Given the description of an element on the screen output the (x, y) to click on. 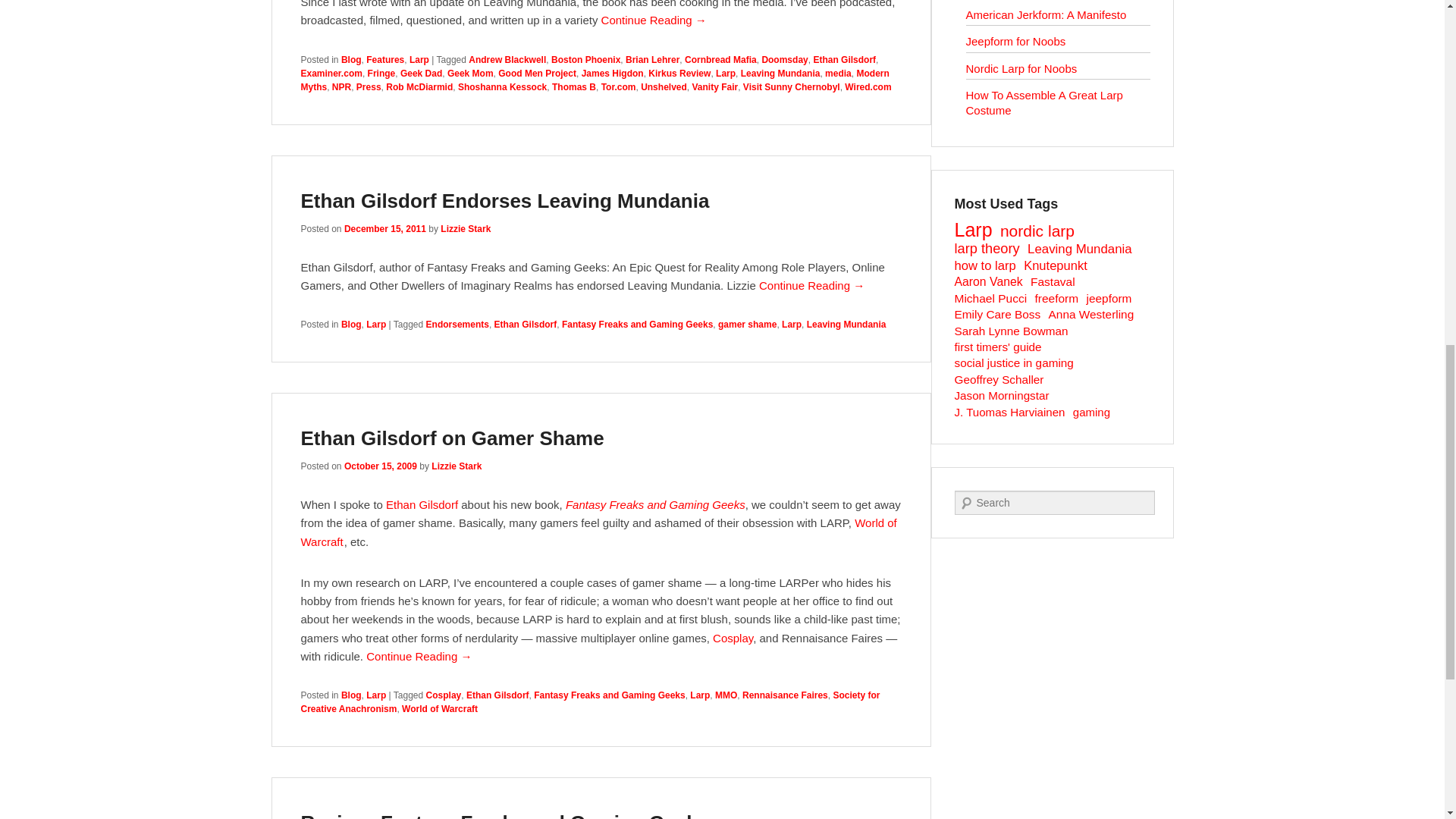
Permalink to Ethan Gilsdorf Endorses Leaving Mundania (504, 200)
8:49 pm (379, 466)
Permalink to Ethan Gilsdorf on Gamer Shame (451, 437)
View all posts by Lizzie Stark (465, 228)
12:11 am (384, 228)
